Given the description of an element on the screen output the (x, y) to click on. 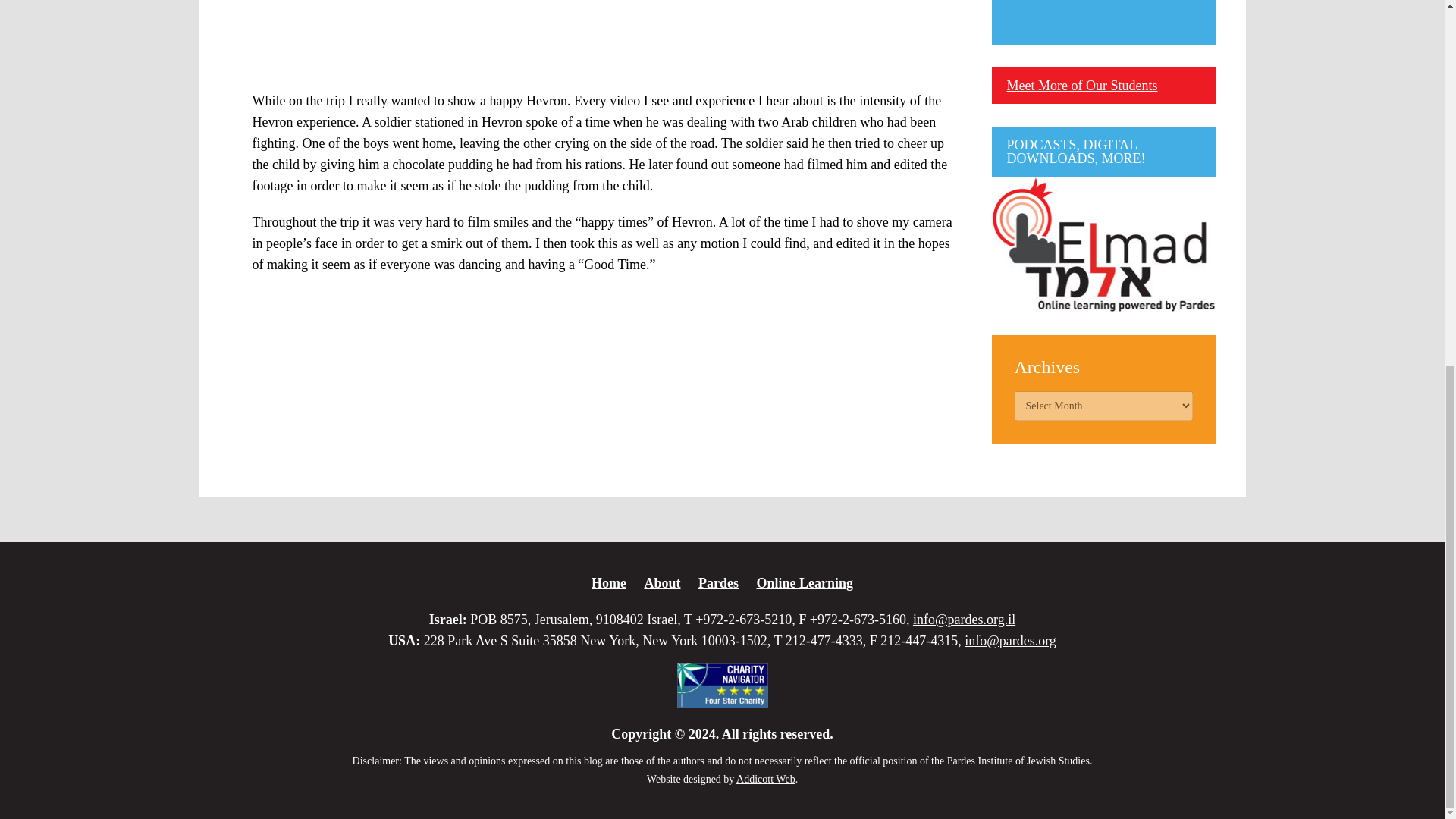
Online Learning (804, 582)
Addicott Web (765, 778)
Meet More of Our Students (1082, 85)
About (661, 582)
Home (608, 582)
Podcasts, Digital Downloads, More! (1103, 243)
Pardes (718, 582)
